Given the description of an element on the screen output the (x, y) to click on. 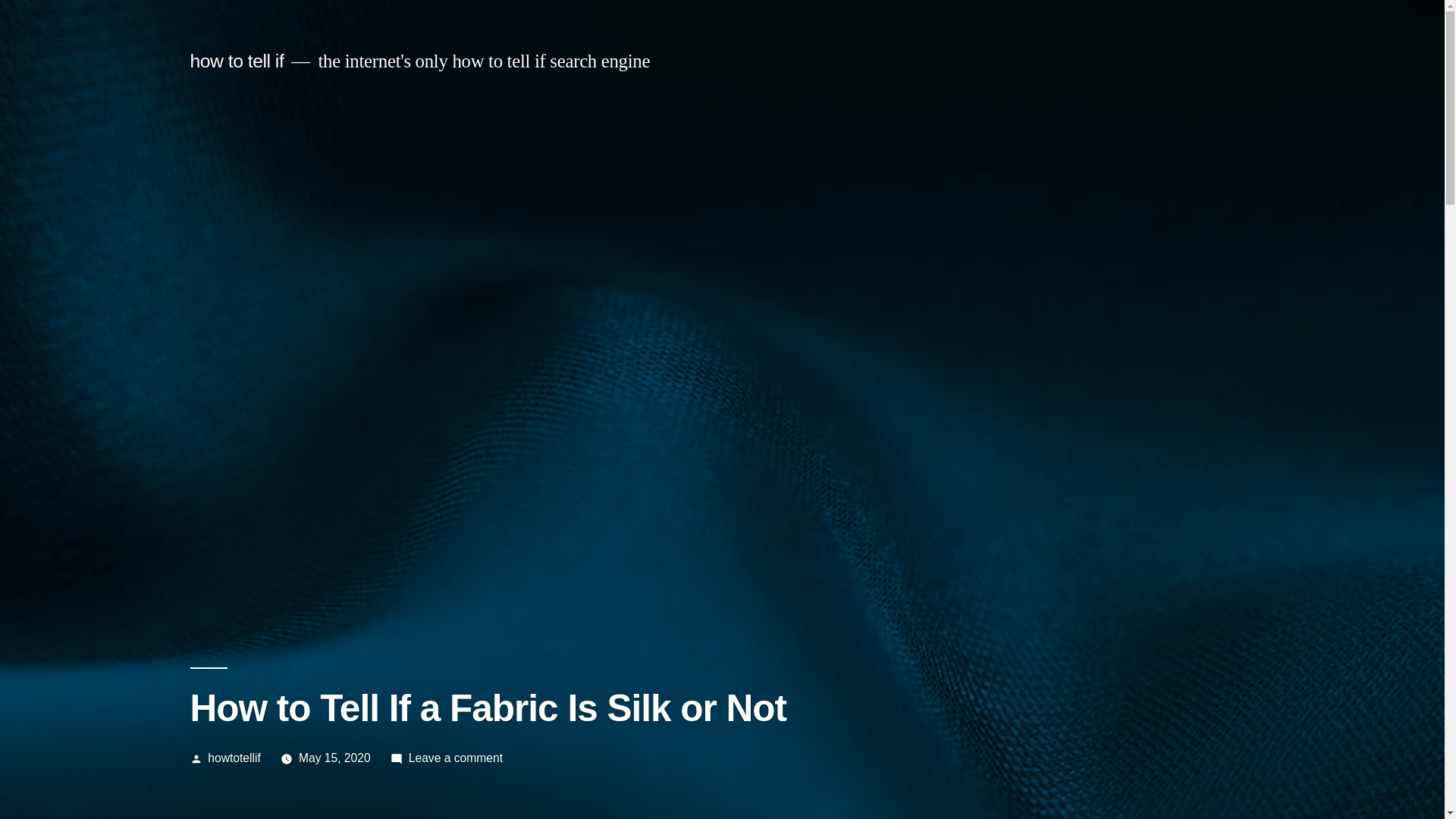
howtotellif (455, 757)
how to tell if (234, 757)
May 15, 2020 (236, 60)
